Given the description of an element on the screen output the (x, y) to click on. 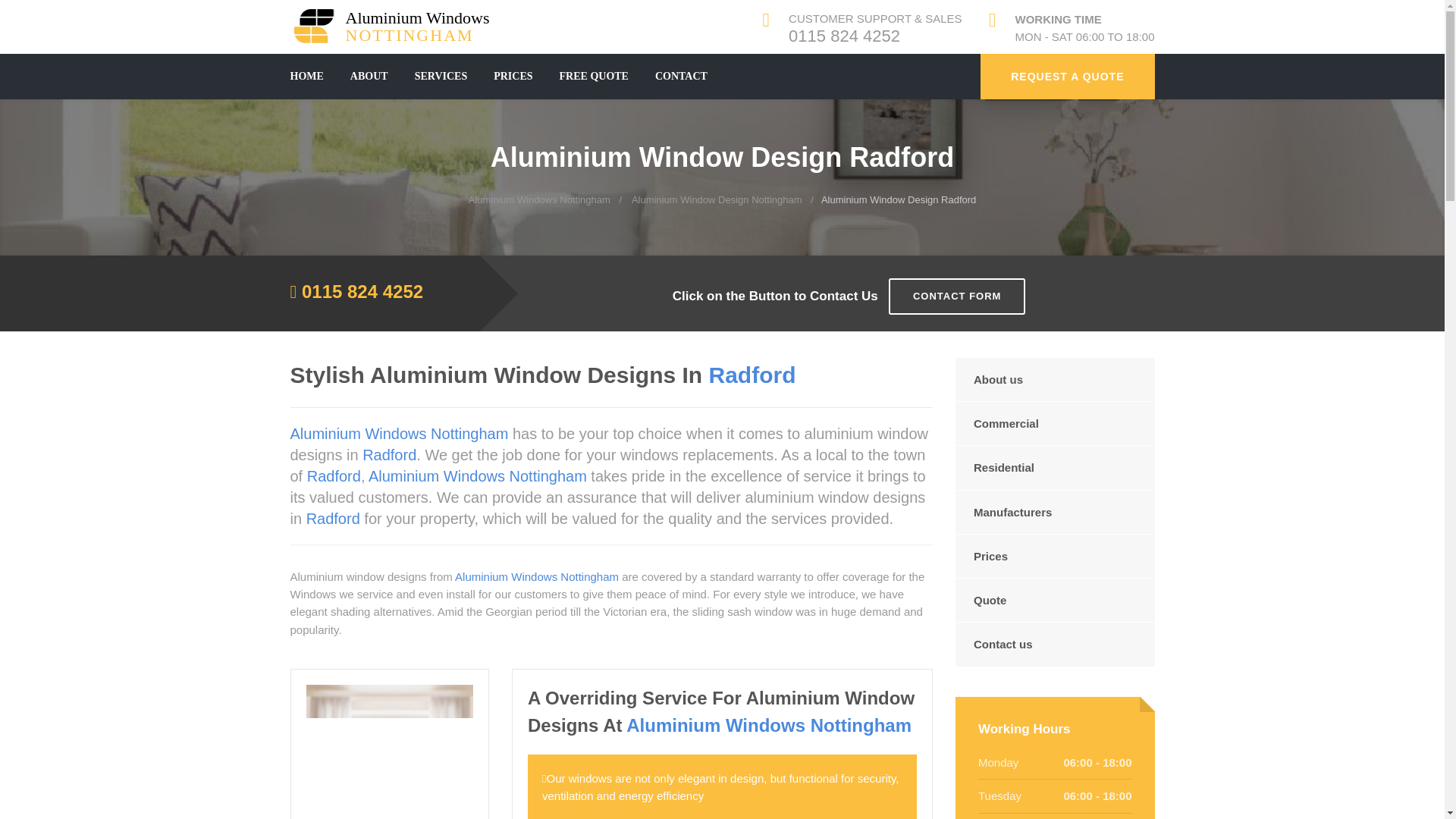
CONTACT FORM (956, 296)
Aluminium Windows Nottingham (395, 26)
0115 824 4252 (539, 199)
Aluminium Windows Nottingham (362, 291)
SERVICES (395, 26)
FREE QUOTE (440, 75)
REQUEST A QUOTE (593, 75)
0115 824 4252 (1066, 75)
CONTACT (844, 35)
Aluminium Window Design Nottingham (681, 75)
